Given the description of an element on the screen output the (x, y) to click on. 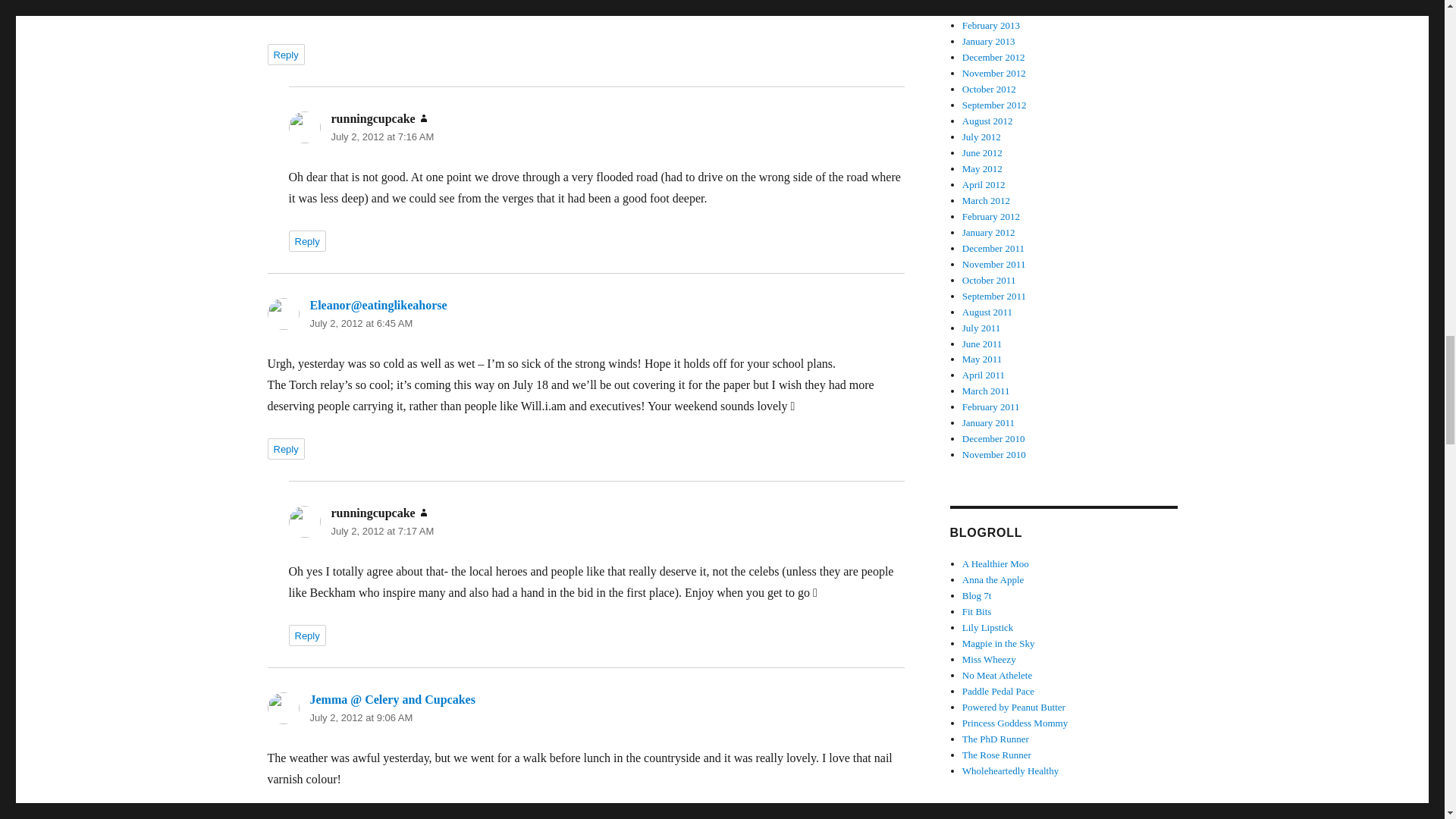
July 2, 2012 at 7:16 AM (381, 136)
Reply (306, 635)
Reply (285, 815)
July 2, 2012 at 9:06 AM (360, 717)
July 2, 2012 at 7:17 AM (381, 531)
Reply (306, 240)
Reply (285, 448)
Reply (285, 54)
July 2, 2012 at 6:45 AM (360, 323)
